Given the description of an element on the screen output the (x, y) to click on. 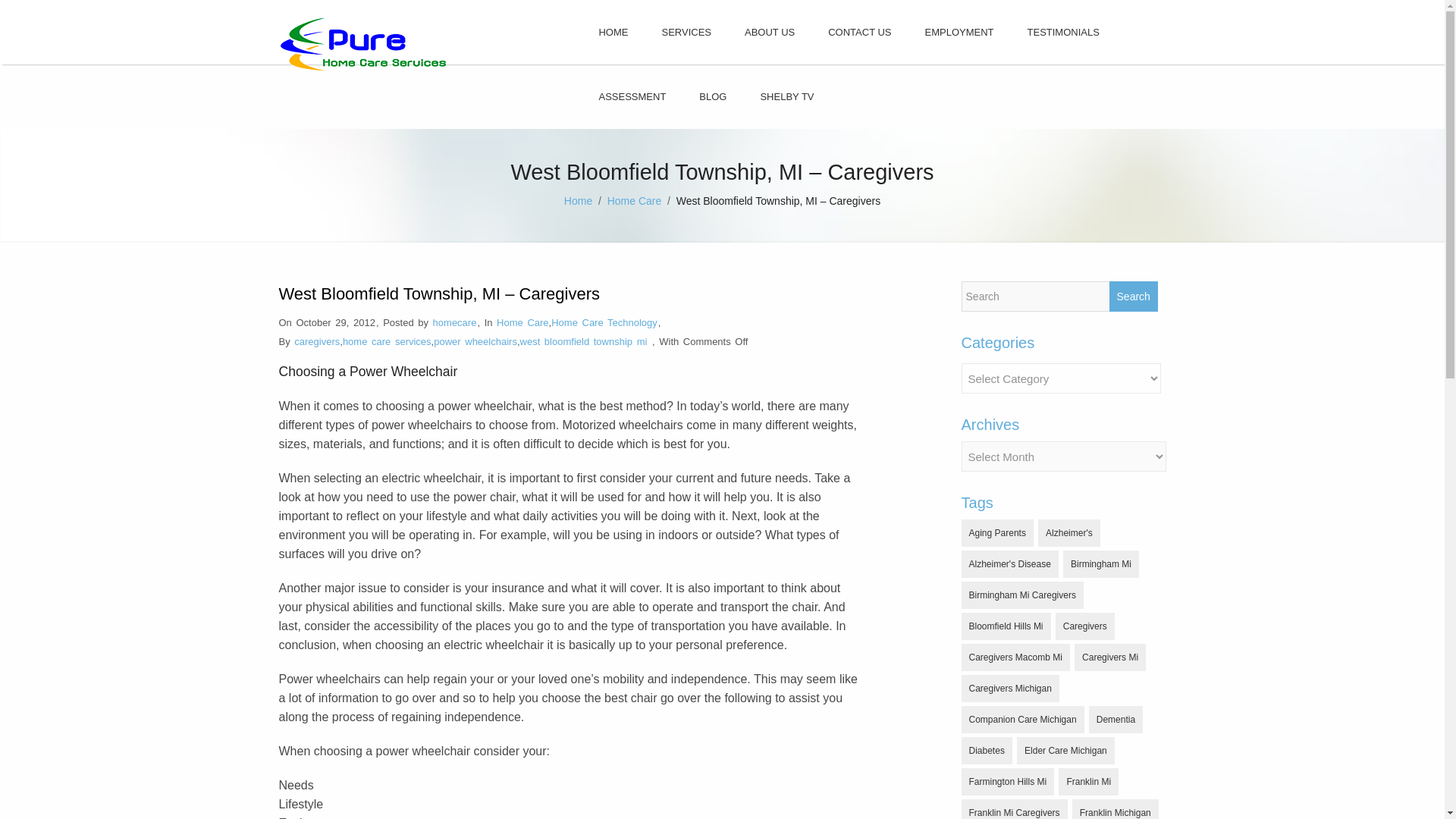
Alzheimer'S (1069, 533)
Franklin Mi (1088, 781)
Franklin Mi Caregivers (1013, 809)
Caregivers Michigan (1009, 687)
SERVICES (686, 32)
Diabetes (985, 750)
homecare (454, 322)
Birmingham Mi Caregivers (1021, 595)
CONTACT US (858, 32)
TESTIMONIALS (1063, 32)
Caregivers Macomb Mi (1015, 656)
home care services (386, 341)
caregivers (316, 341)
BLOG (712, 96)
Dementia (1115, 719)
